Given the description of an element on the screen output the (x, y) to click on. 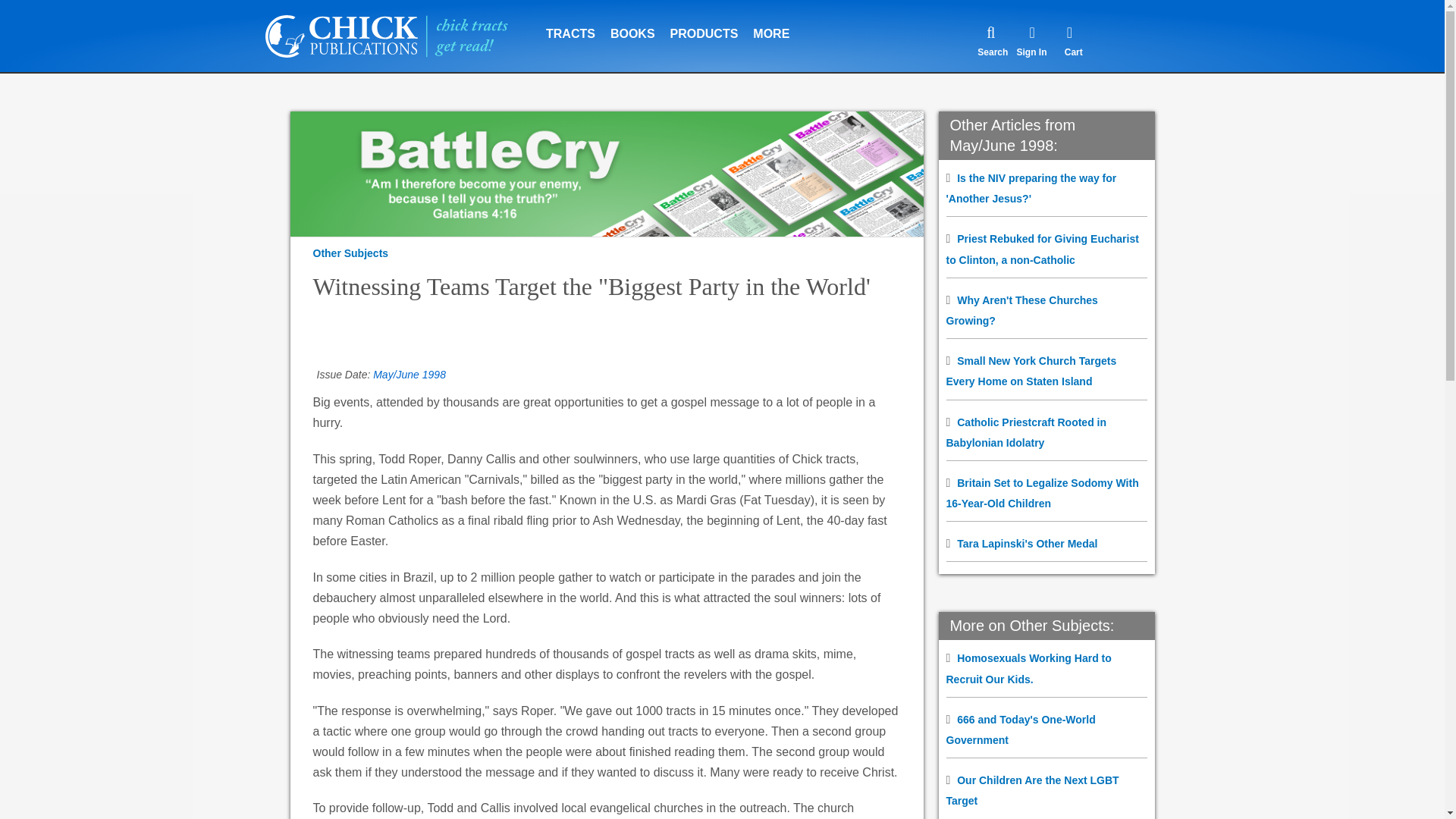
BOOKS (632, 24)
TRACTS (570, 24)
